Given the description of an element on the screen output the (x, y) to click on. 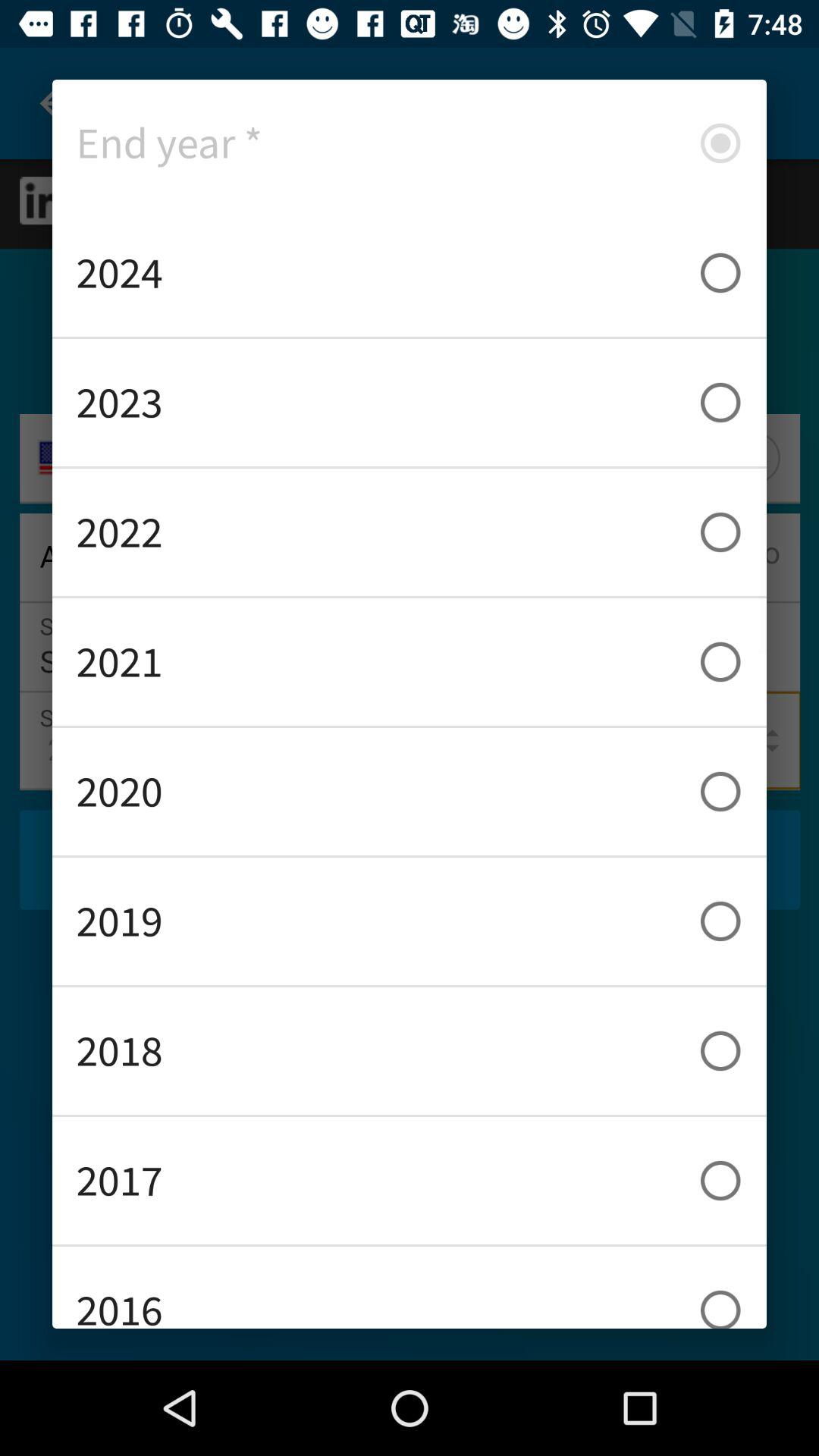
swipe until 2016 icon (409, 1287)
